Given the description of an element on the screen output the (x, y) to click on. 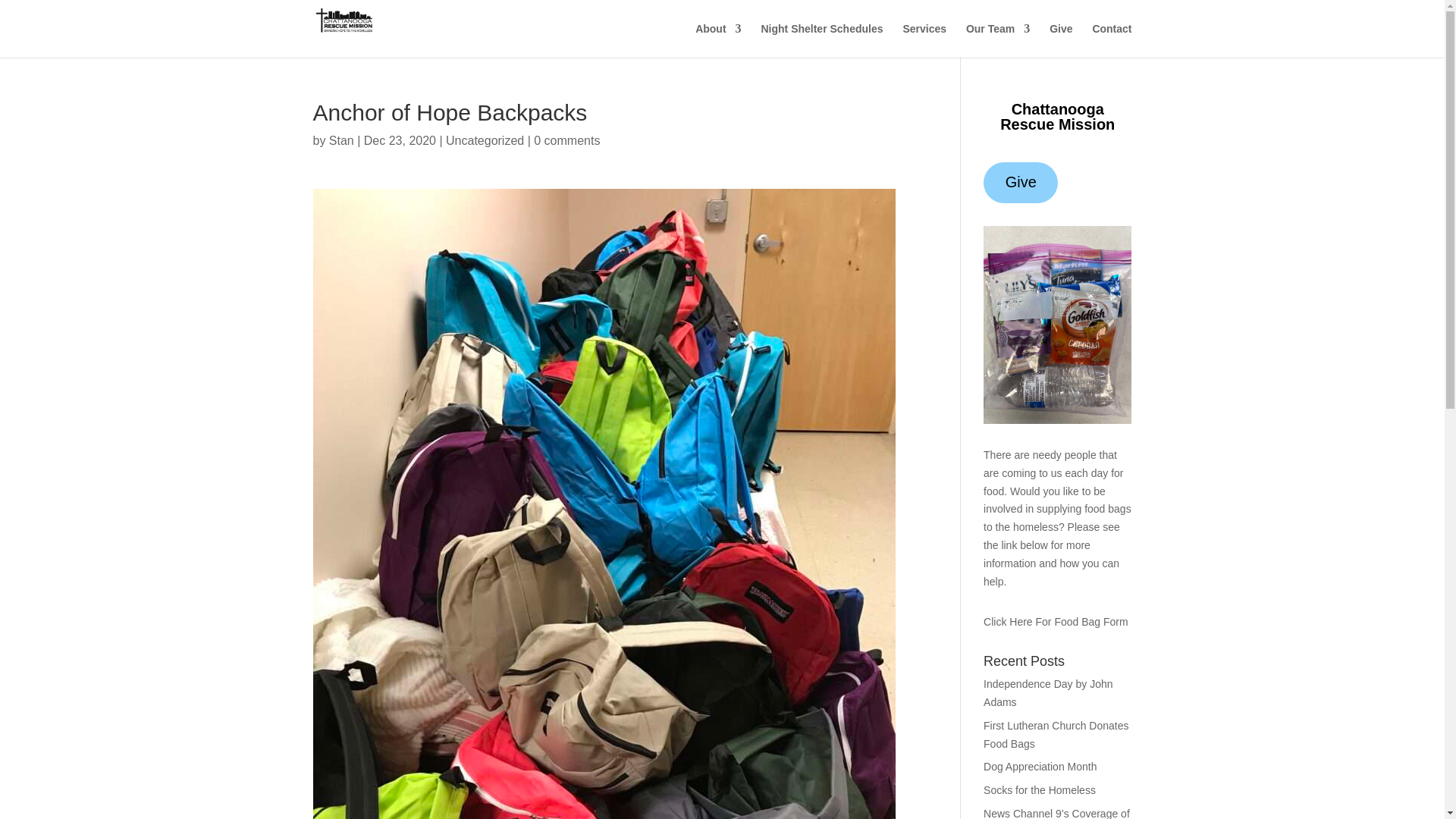
Uncategorized (484, 140)
Stan (341, 140)
Services (924, 40)
Night Shelter Schedules (821, 40)
0 comments (566, 140)
About (718, 40)
Our Team (997, 40)
Contact (1111, 40)
Posts by Stan (341, 140)
